Given the description of an element on the screen output the (x, y) to click on. 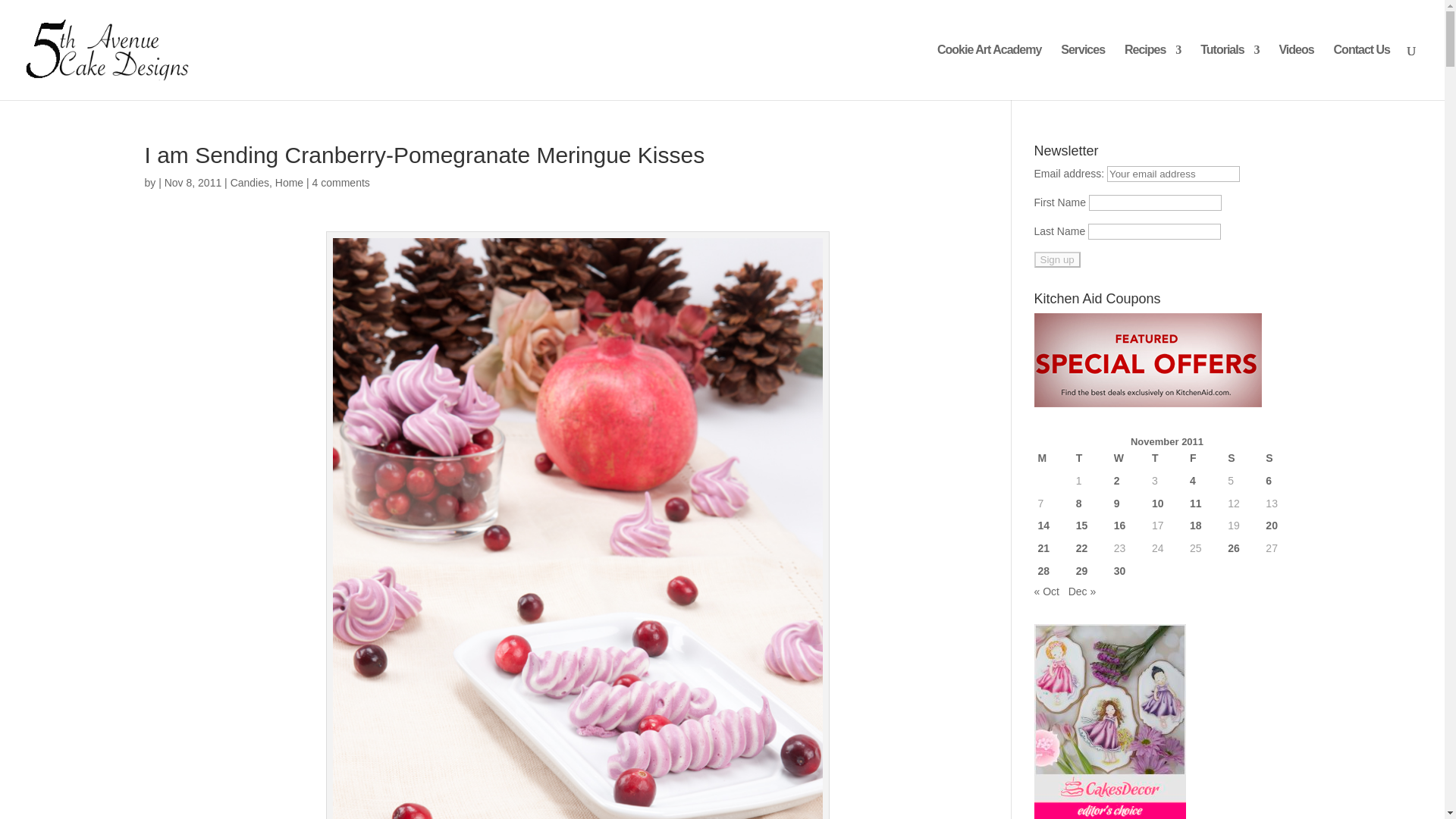
Tutorials (1229, 72)
Recipes (1152, 72)
Sign up (1056, 259)
Contact Us (1361, 72)
Cookie Art Academy (989, 72)
Monday (1052, 458)
